Given the description of an element on the screen output the (x, y) to click on. 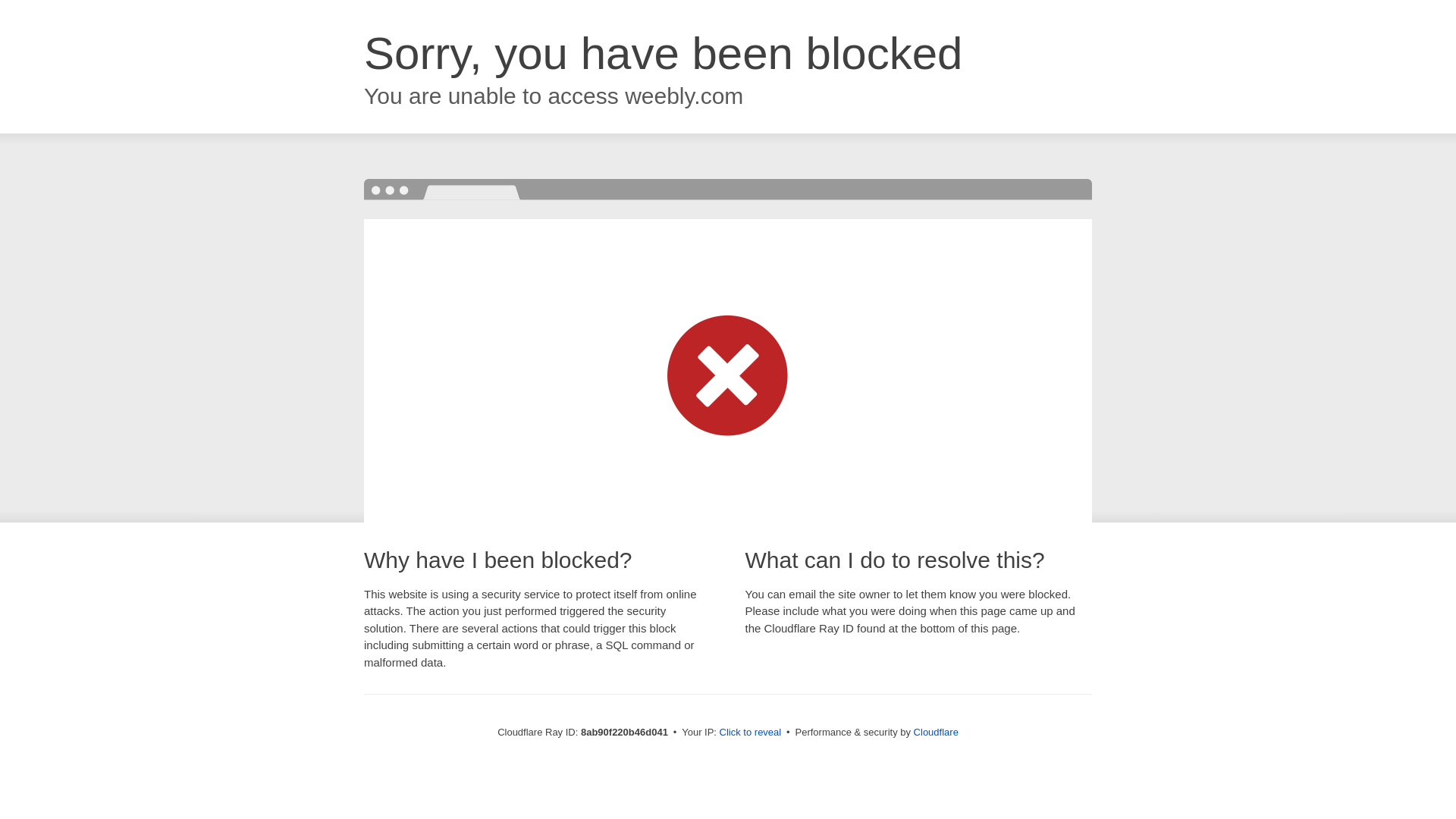
Click to reveal (750, 732)
Cloudflare (936, 731)
